Given the description of an element on the screen output the (x, y) to click on. 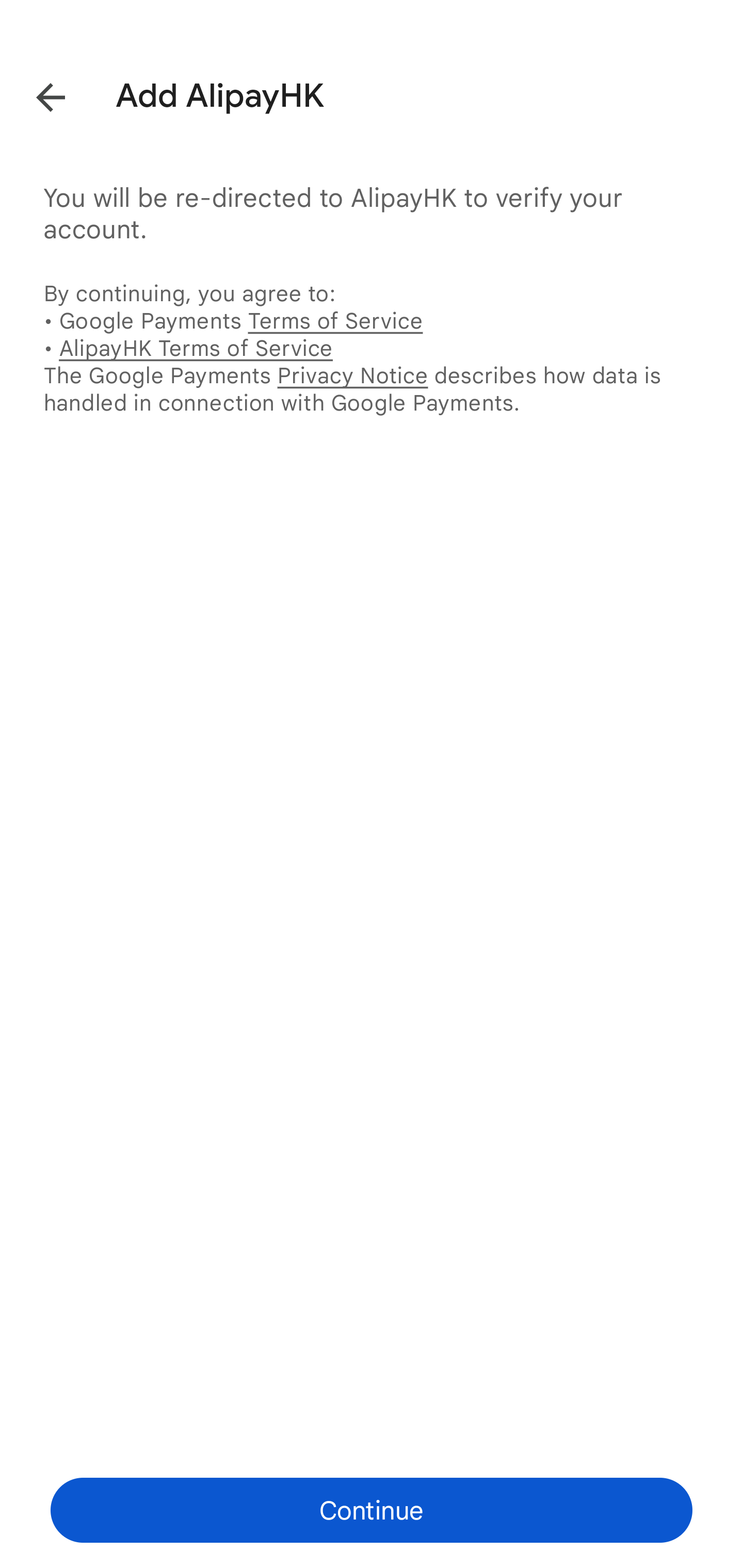
Back (36, 94)
Terms of Service (334, 320)
AlipayHK Terms of Service (195, 347)
Privacy Notice (352, 375)
Continue (371, 1510)
